Given the description of an element on the screen output the (x, y) to click on. 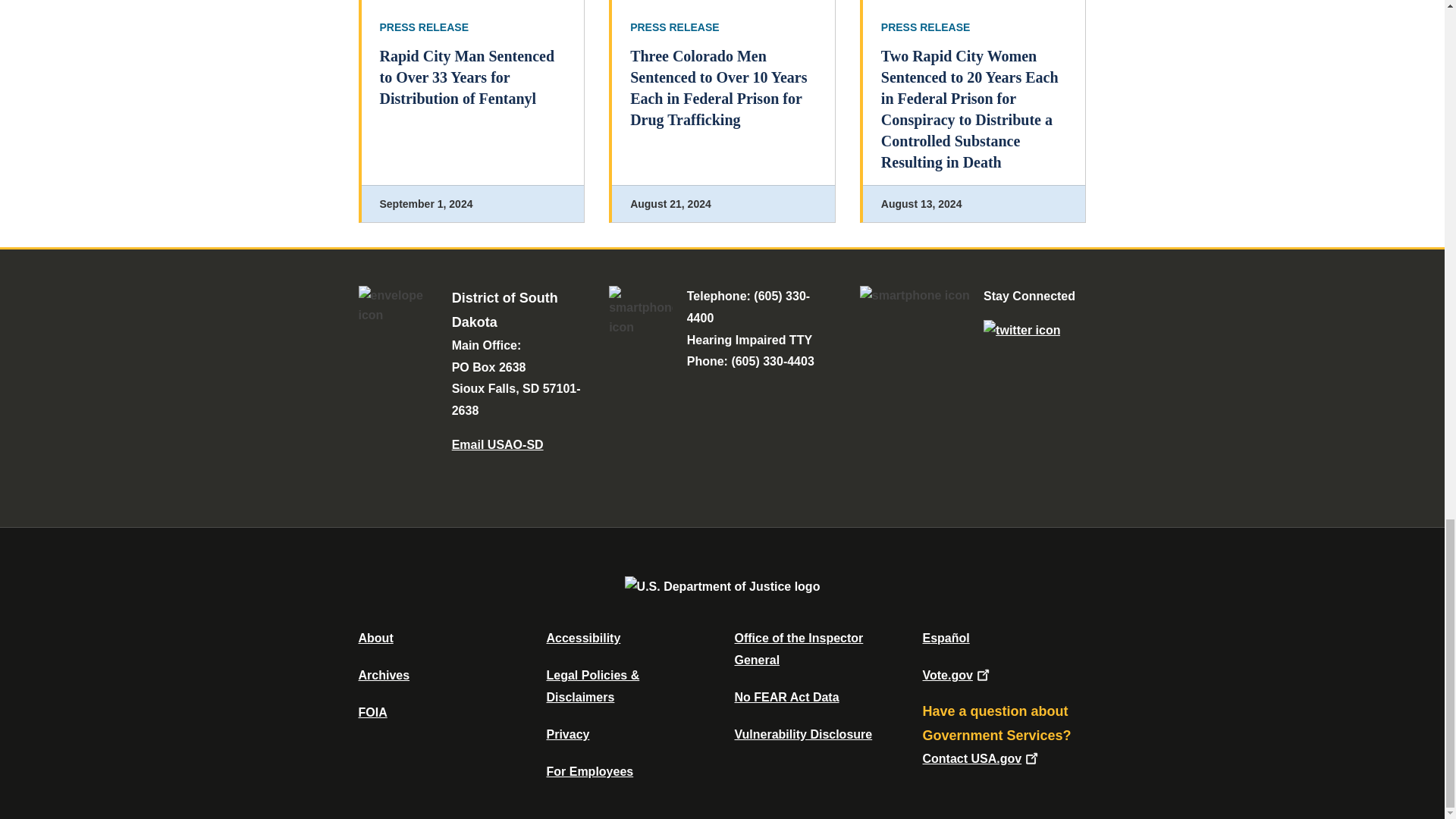
About DOJ (375, 637)
Office of Information Policy (372, 712)
Department of Justice Archive (383, 675)
Data Posted Pursuant To The No Fear Act (785, 697)
For Employees (589, 771)
Legal Policies and Disclaimers (592, 686)
Accessibility Statement (583, 637)
